Given the description of an element on the screen output the (x, y) to click on. 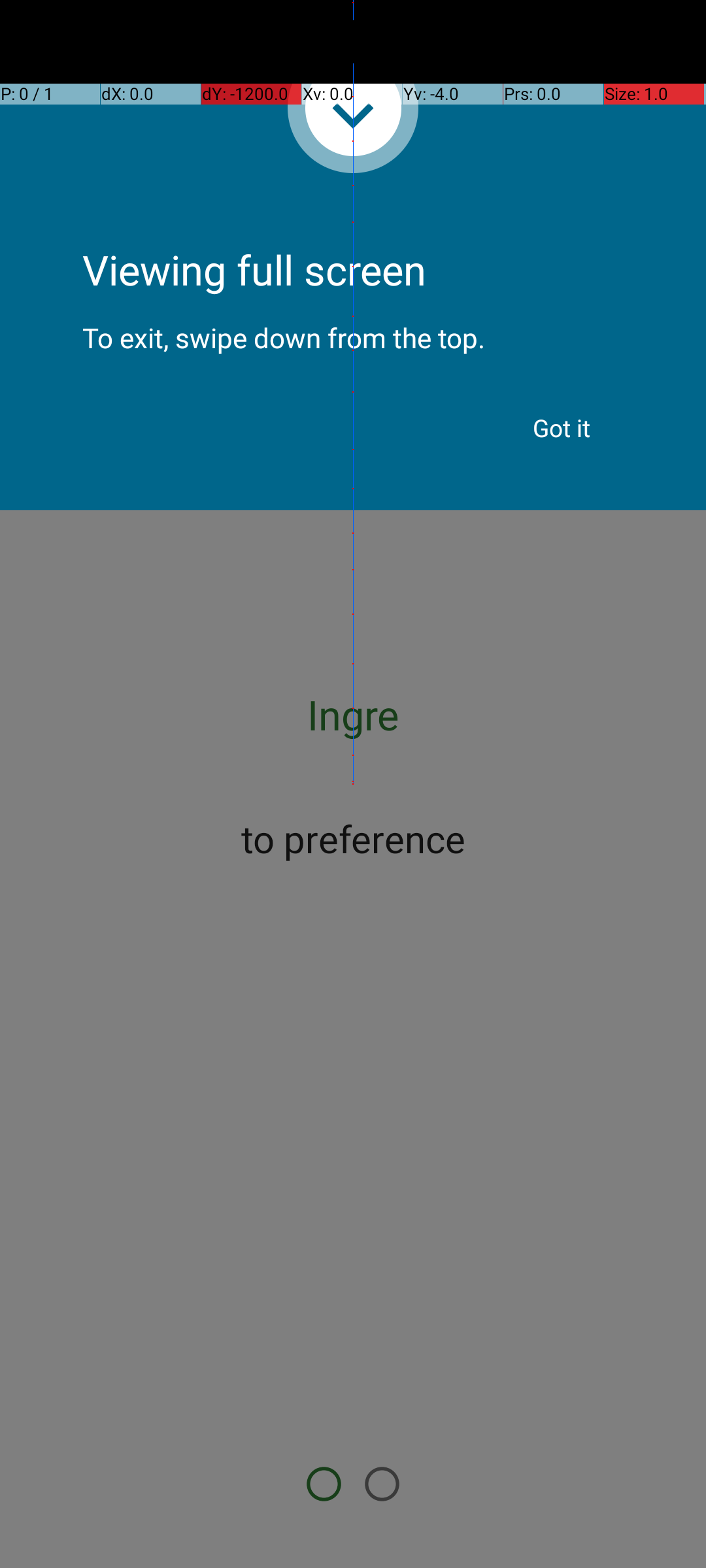
to preference Element type: android.widget.TextView (353, 838)
Viewing full screen Element type: android.widget.TextView (353, 235)
To exit, swipe down from the top. Element type: android.widget.TextView (353, 326)
Got it Element type: android.widget.Button (561, 427)
